Given the description of an element on the screen output the (x, y) to click on. 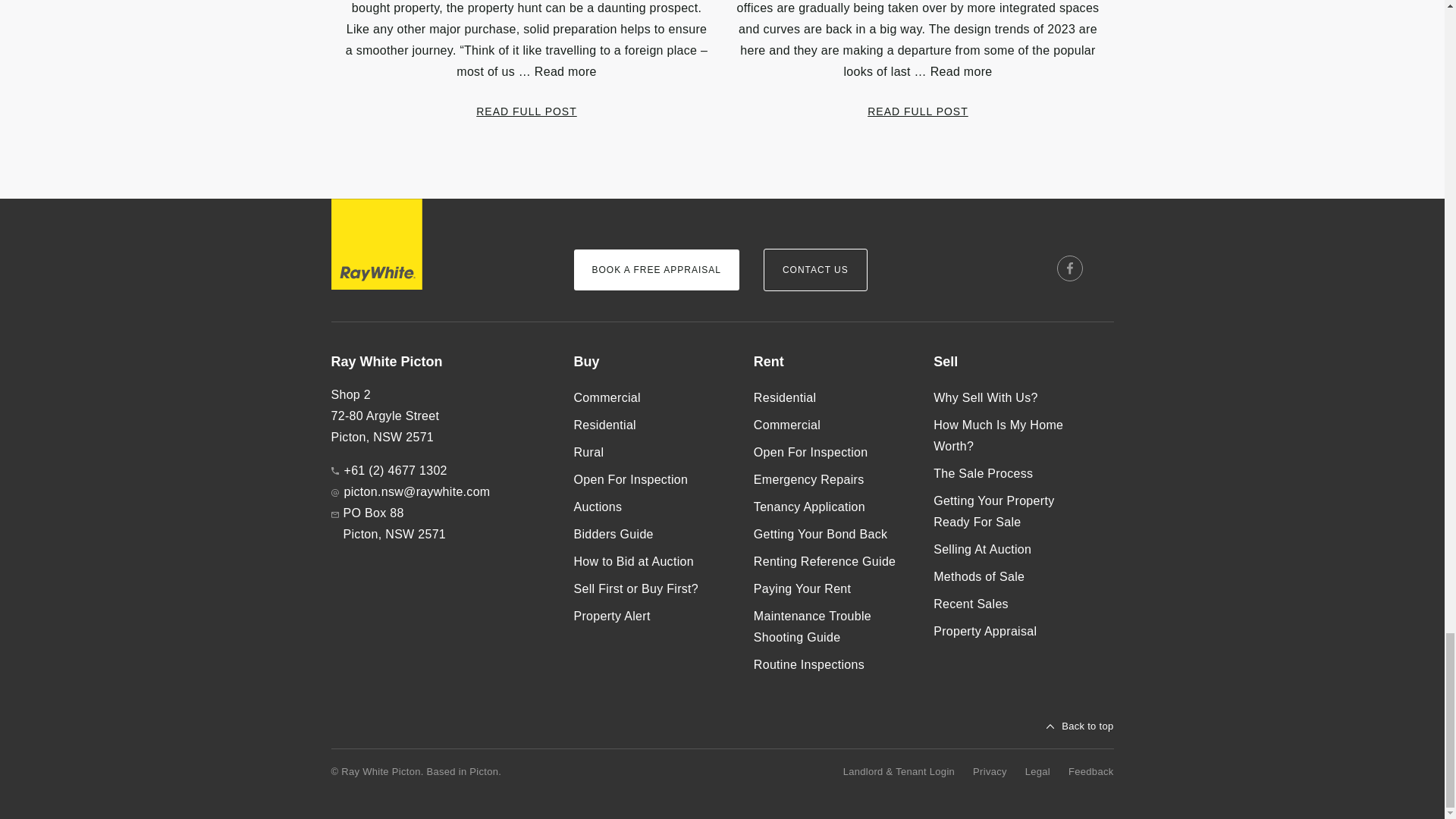
Buy (651, 362)
Residential (651, 424)
Open For Inspection (651, 479)
Commercial (831, 424)
Facebook (1070, 268)
Ray White Picton (439, 362)
Tenancy Application (831, 506)
Rent (831, 362)
Ray White (376, 244)
Open For Inspection (831, 452)
BOOK A FREE APPRAISAL (655, 269)
Property Alert (651, 615)
CONTACT US (814, 269)
Auctions (651, 506)
READ FULL POST (526, 110)
